Given the description of an element on the screen output the (x, y) to click on. 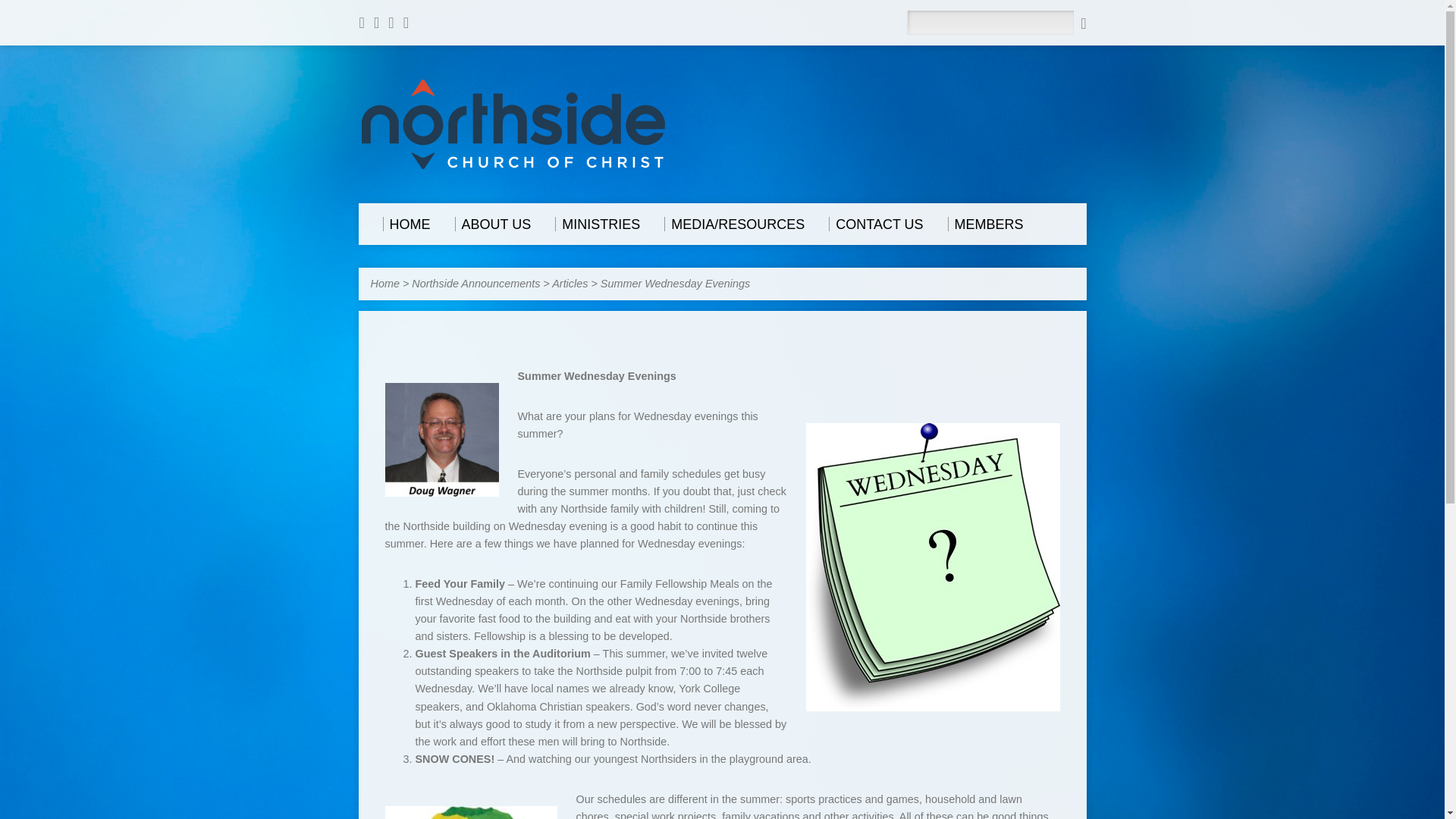
ABOUT US (492, 223)
MINISTRIES (597, 223)
HOME (405, 223)
